Given the description of an element on the screen output the (x, y) to click on. 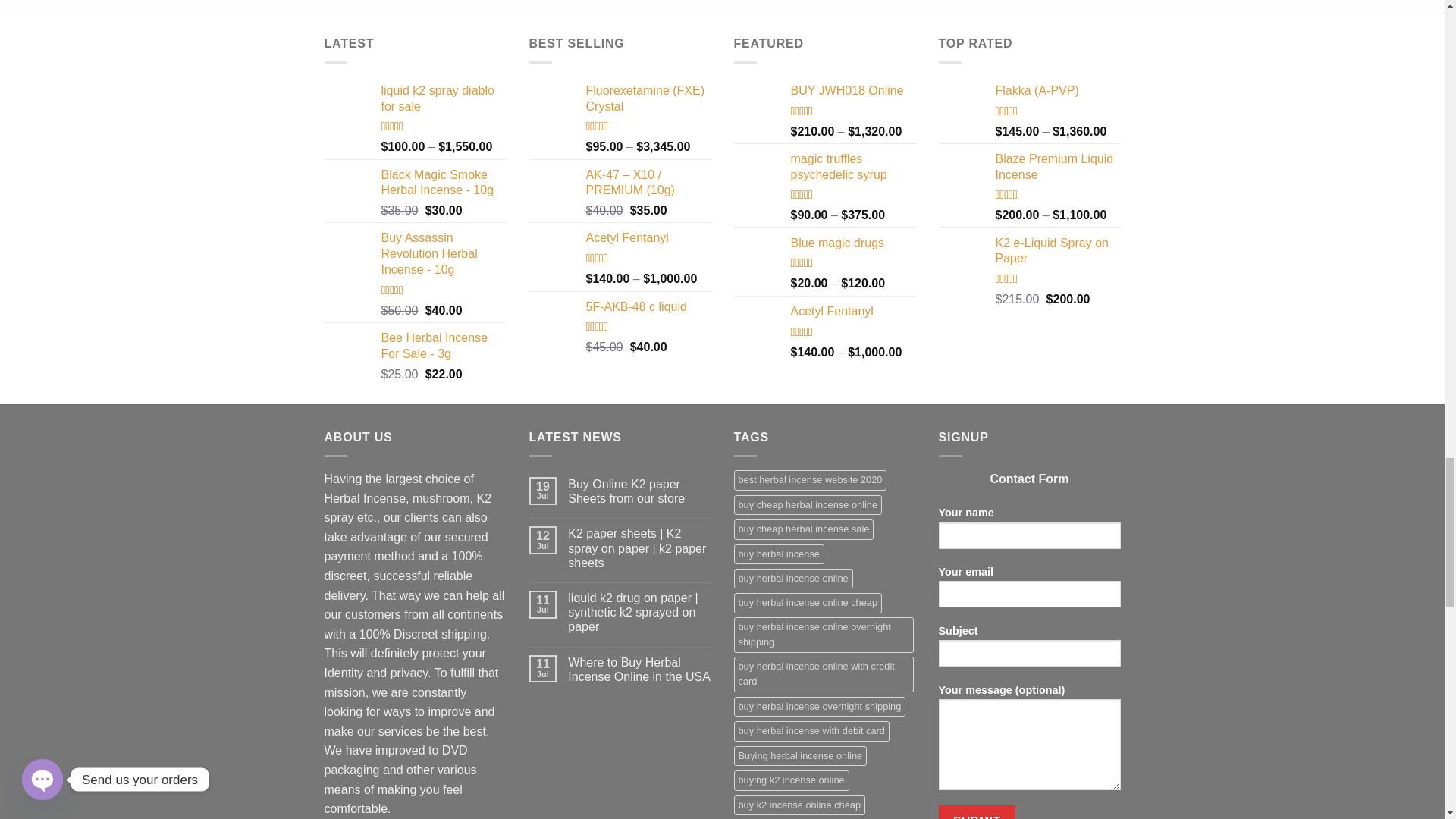
Submit (976, 812)
